Given the description of an element on the screen output the (x, y) to click on. 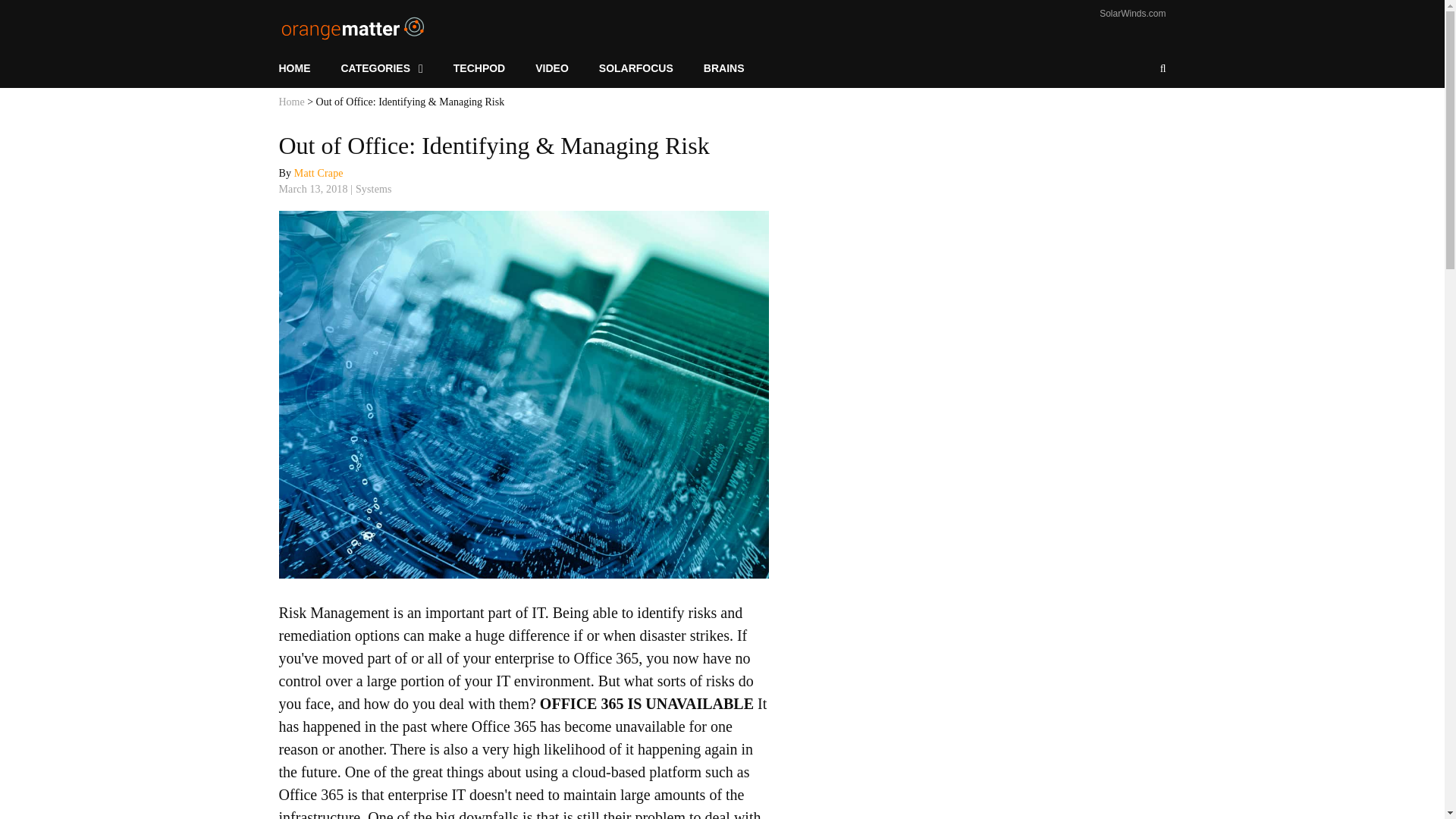
SolarWinds.com (1132, 13)
TECHPOD (478, 68)
HOME (302, 68)
SOLARFOCUS (635, 68)
BRAINS (724, 68)
Systems (373, 188)
Matt Crape (318, 173)
Home (291, 101)
CATEGORIES (382, 68)
VIDEO (551, 68)
